Given the description of an element on the screen output the (x, y) to click on. 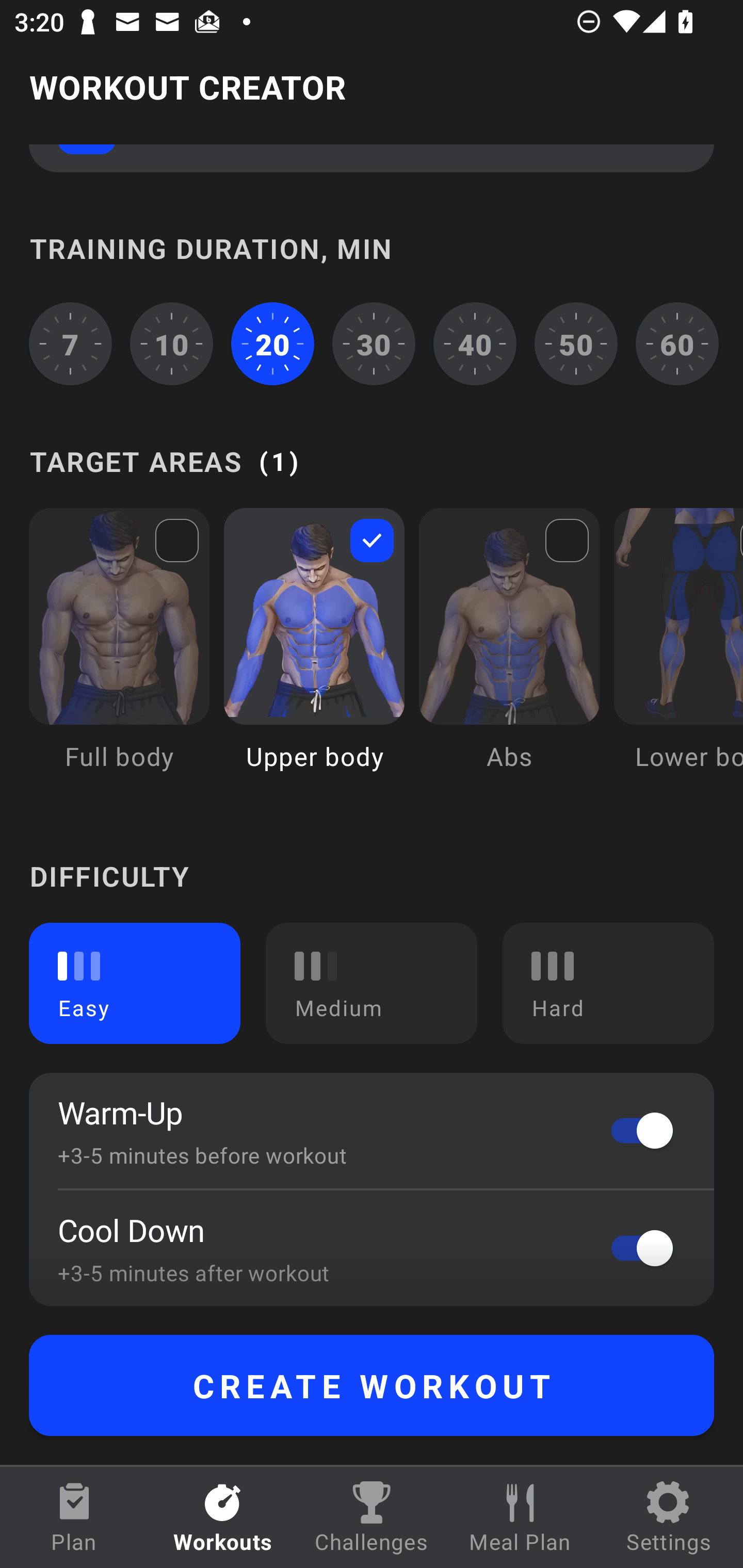
7 (70, 343)
10 (171, 343)
20 (272, 343)
30 (373, 343)
40 (474, 343)
50 (575, 343)
60 (676, 343)
Full body (118, 653)
Abs (509, 653)
Lower body (678, 653)
Medium (371, 982)
Hard (608, 982)
CREATE WORKOUT (371, 1385)
 Plan  (74, 1517)
 Challenges  (371, 1517)
 Meal Plan  (519, 1517)
 Settings  (668, 1517)
